Given the description of an element on the screen output the (x, y) to click on. 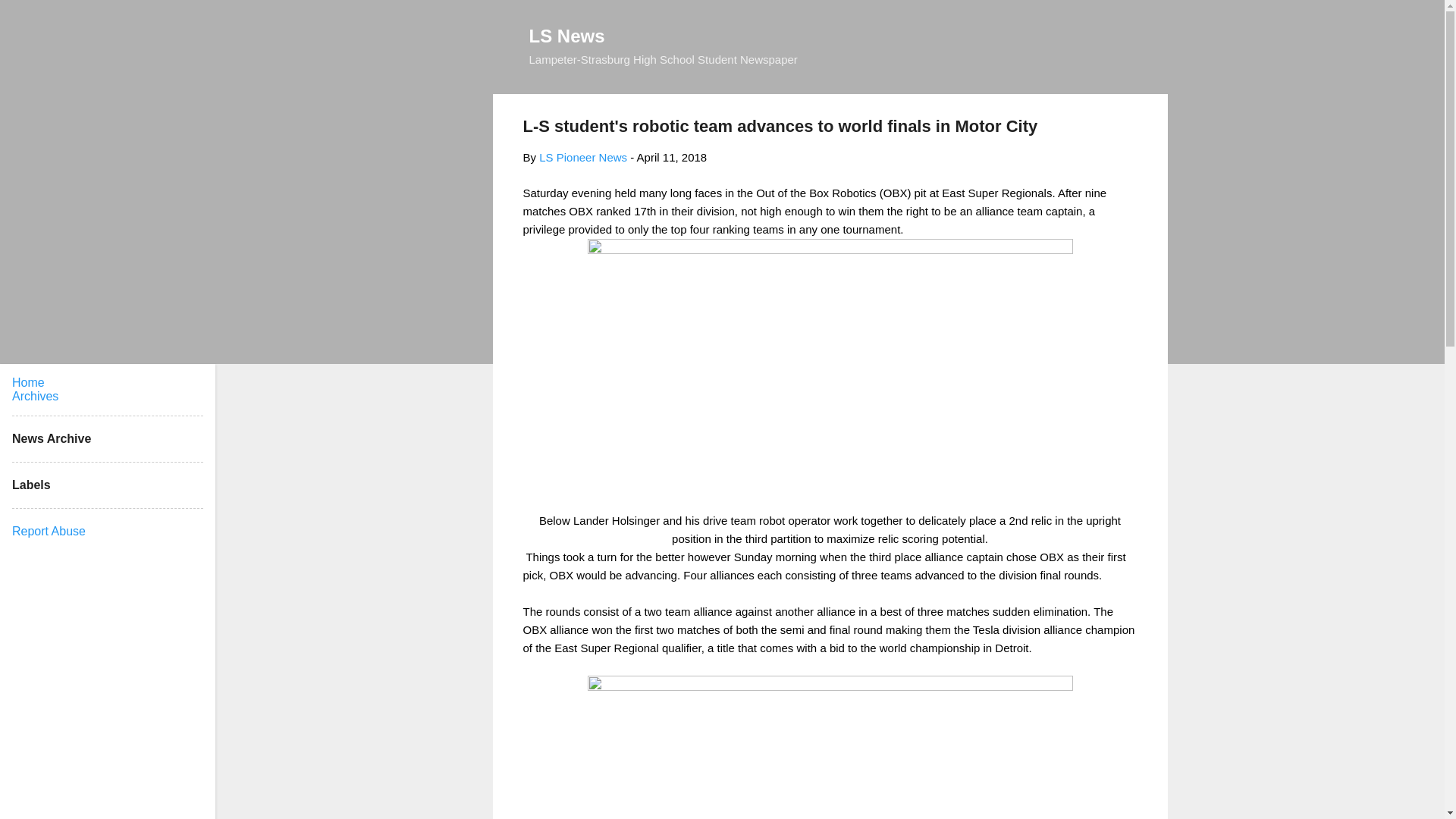
April 11, 2018 (672, 156)
author profile (582, 156)
LS News (567, 35)
permanent link (672, 156)
Home (28, 382)
LS Pioneer News (582, 156)
Search (29, 18)
